Given the description of an element on the screen output the (x, y) to click on. 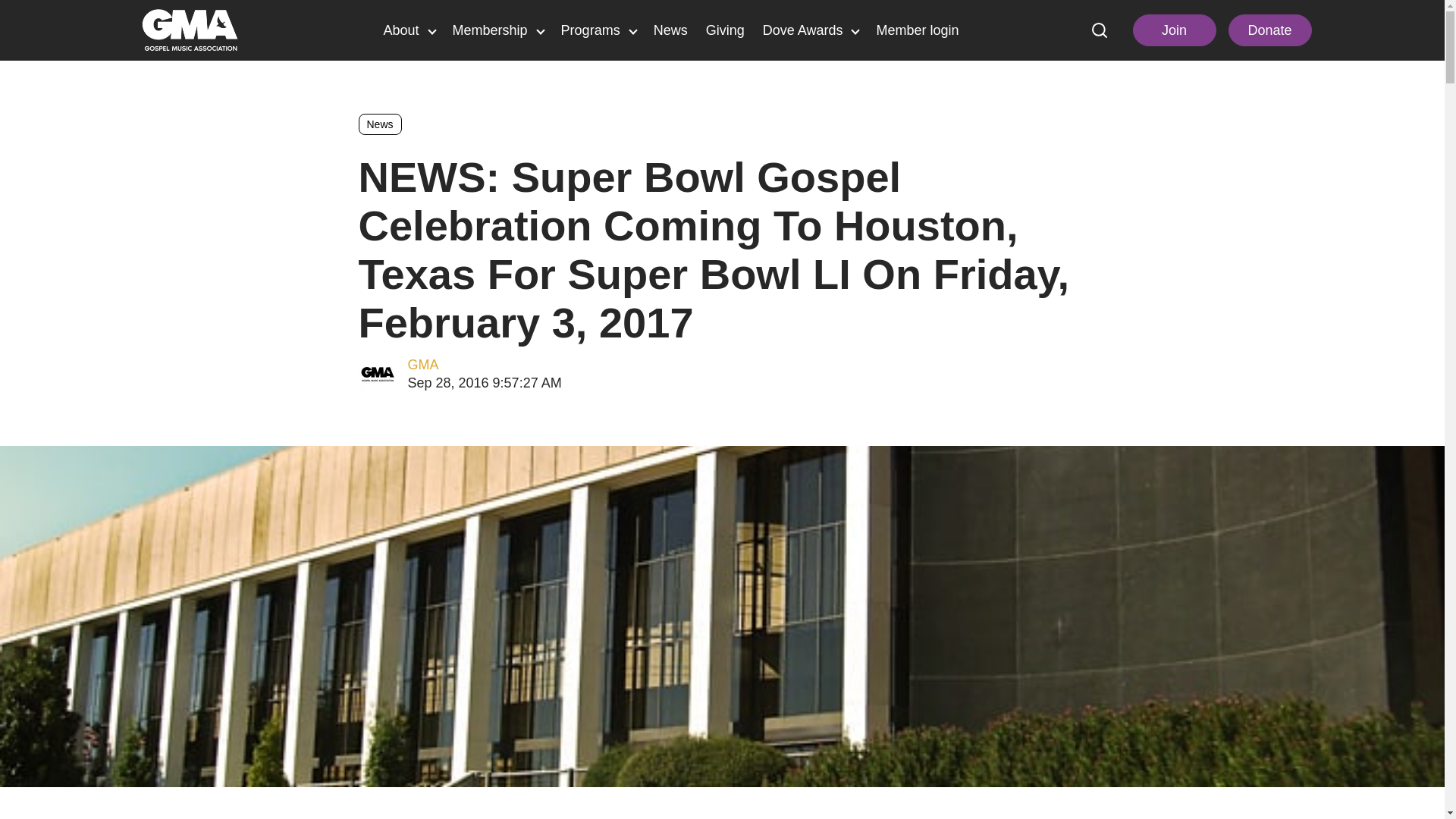
About (408, 31)
Membership (497, 31)
Dove Awards (810, 31)
News (670, 31)
Programs (597, 31)
Giving (725, 31)
